Given the description of an element on the screen output the (x, y) to click on. 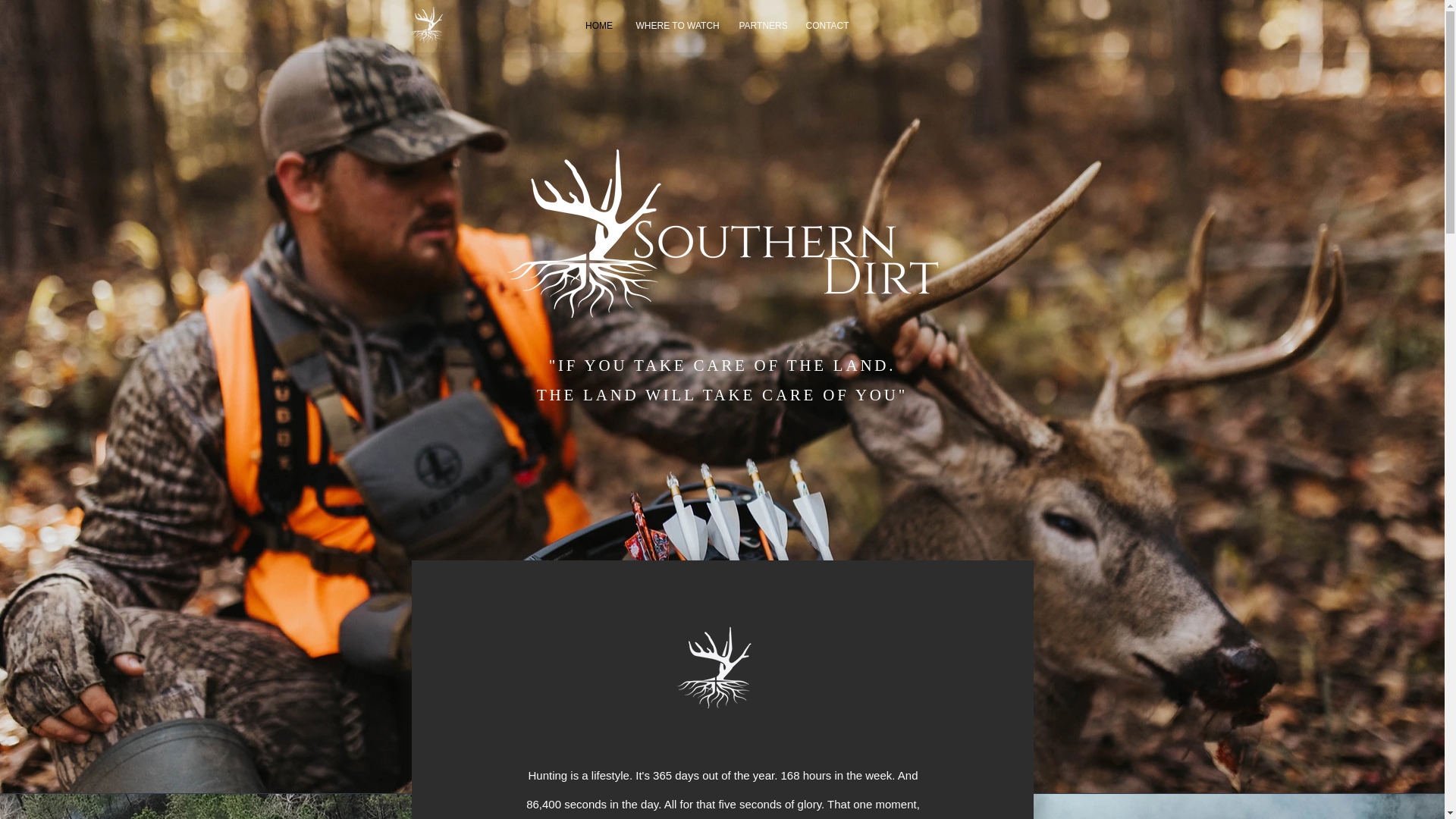
WHERE TO WATCH (676, 25)
CONTACT (827, 25)
HOME (598, 25)
PARTNERS (761, 25)
